Given the description of an element on the screen output the (x, y) to click on. 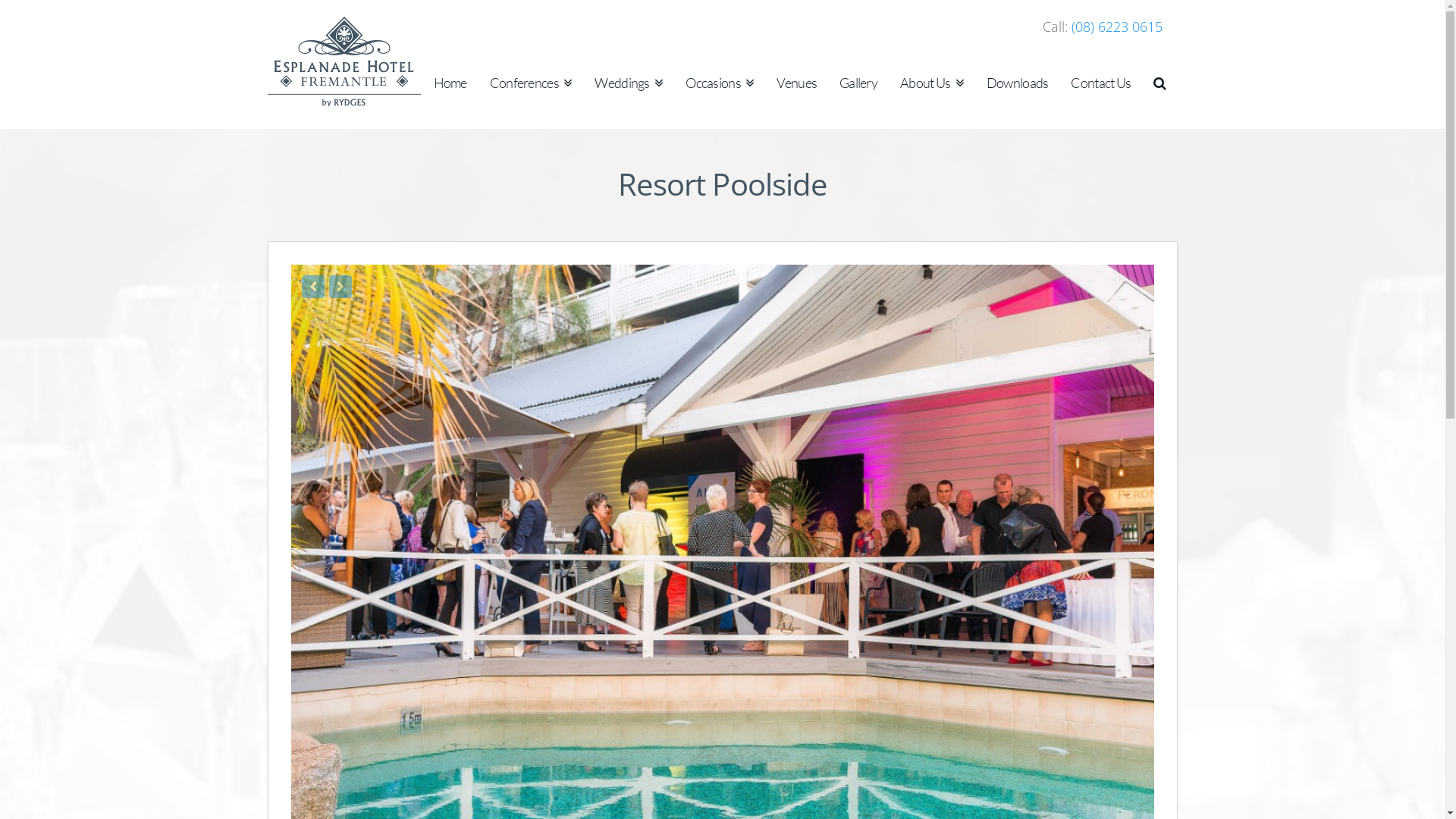
Meetings, Conferences & Weddings Venue Element type: hover (343, 61)
Occasions Element type: text (719, 71)
Weddings Element type: text (628, 71)
Venues Element type: text (796, 71)
Conferences Element type: text (530, 71)
About Us Element type: text (931, 71)
Home Element type: text (450, 71)
Contact Us Element type: text (1100, 71)
Gallery Element type: text (858, 71)
Downloads Element type: text (1017, 71)
(08) 6223 0615 Element type: text (1115, 26)
